Given the description of an element on the screen output the (x, y) to click on. 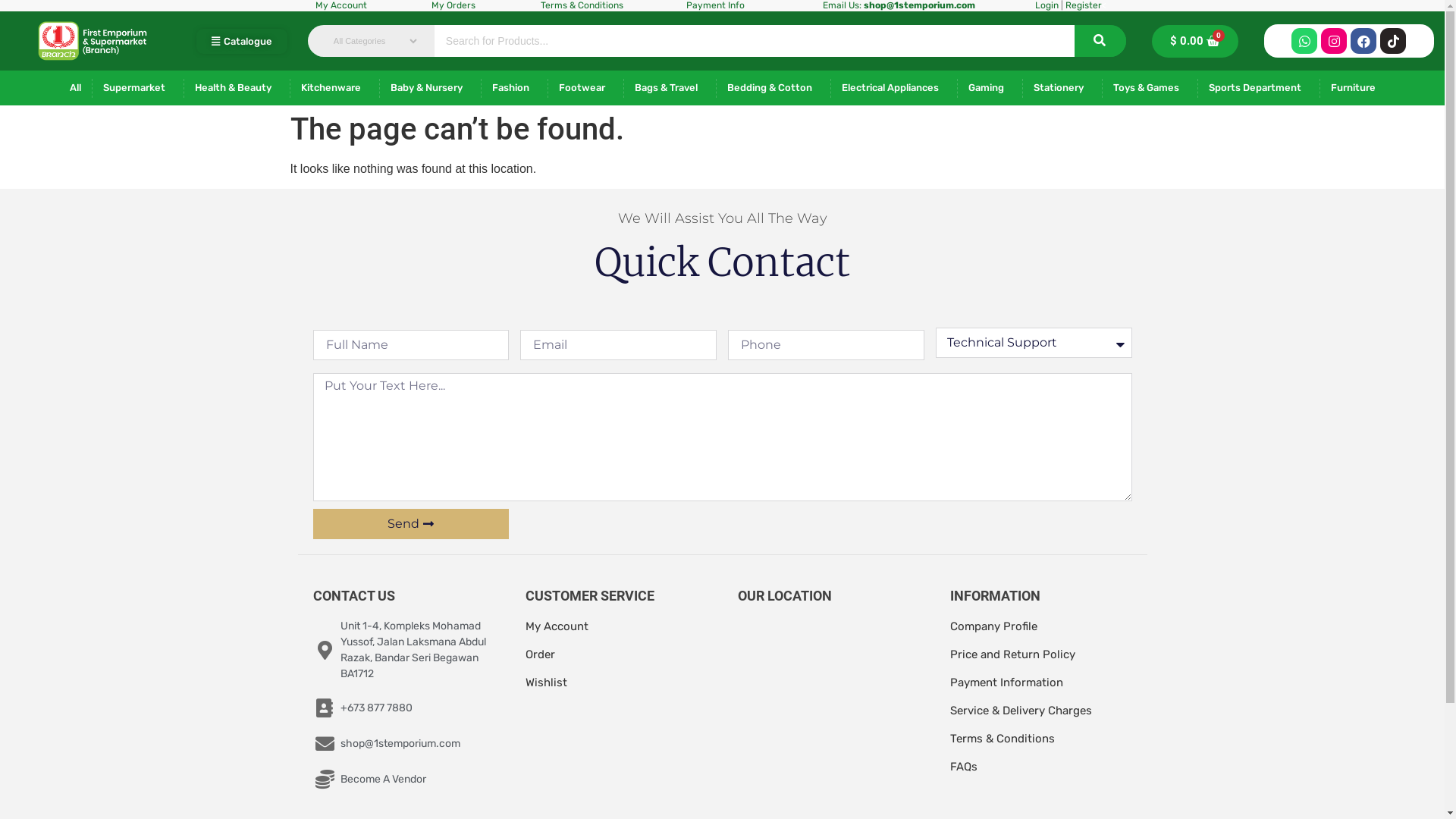
shop@1stemporium.com Element type: text (919, 5)
Bags & Travel Element type: text (669, 87)
My Orders Element type: text (453, 5)
Send Element type: text (410, 523)
Supermarket Element type: text (137, 87)
$ 0.00
0 Element type: text (1194, 41)
My Account Element type: text (555, 626)
Furniture Element type: text (1356, 87)
Payment Info Element type: text (715, 5)
Fashion Element type: text (514, 87)
Order Element type: text (539, 654)
Health & Beauty Element type: text (236, 87)
Baby & Nursery Element type: text (429, 87)
Sports Department Element type: text (1258, 87)
Footwear Element type: text (585, 87)
Kitchenware Element type: text (334, 87)
Gaming Element type: text (989, 87)
Catalogue Element type: text (241, 40)
Wishlist Element type: text (545, 682)
My Account Element type: text (341, 5)
Login Element type: text (1046, 5)
Register Element type: text (1083, 5)
FAQs Element type: text (962, 766)
shop@1stemporium.com Element type: text (403, 743)
Company Profile Element type: text (992, 626)
Payment Information  Element type: text (1007, 682)
Bedding & Cotton Element type: text (773, 87)
Stationery Element type: text (1061, 87)
All Element type: text (75, 87)
+673 877 7880 Element type: text (403, 707)
Terms & Conditions Element type: text (1001, 738)
Service & Delivery Charges Element type: text (1020, 710)
Toys & Games Element type: text (1149, 87)
Electrical Appliances Element type: text (894, 87)
Price and Return Policy Element type: text (1011, 654)
Terms & Conditions Element type: text (581, 5)
